Given the description of an element on the screen output the (x, y) to click on. 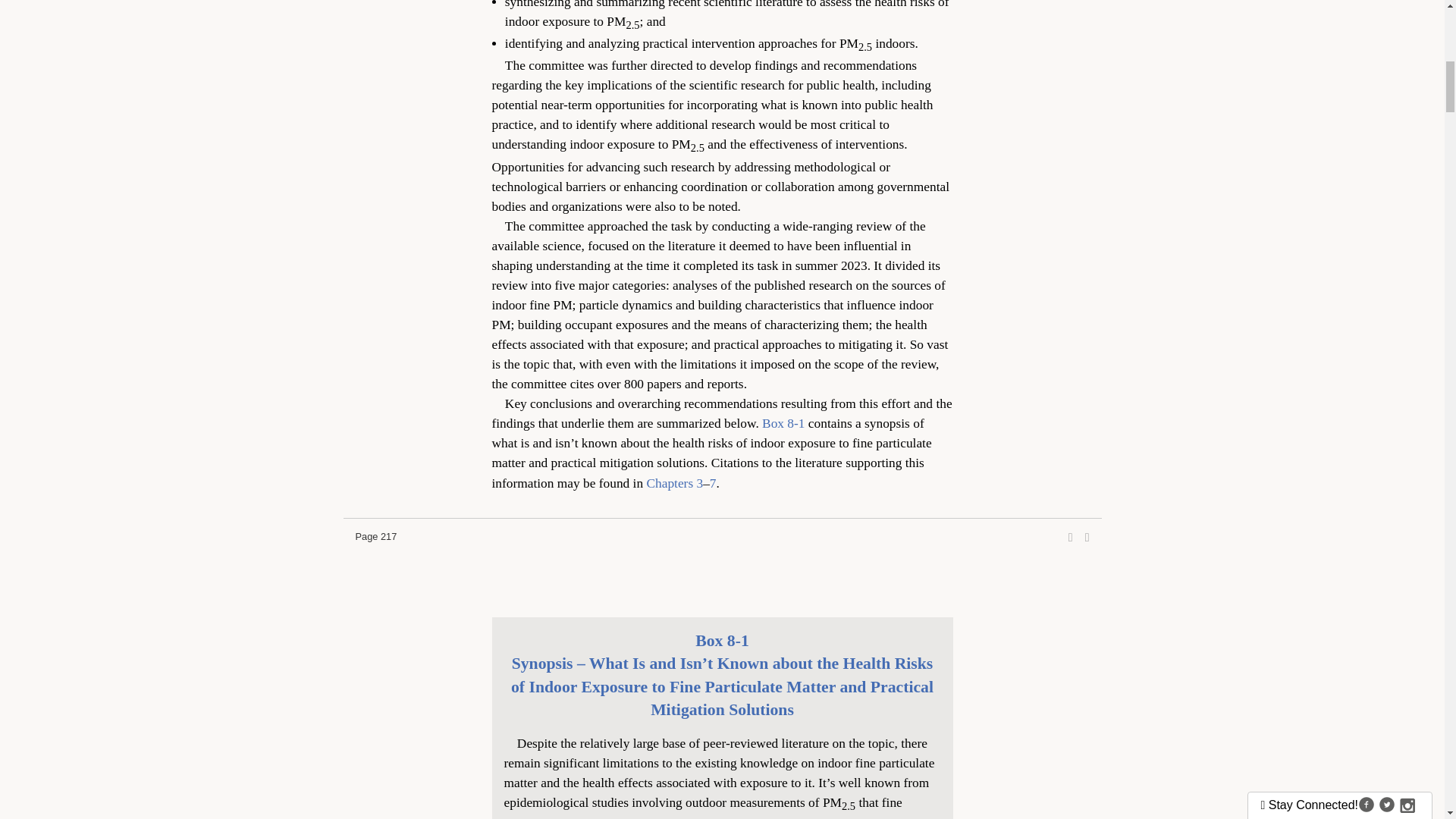
Chapters 3 (674, 482)
Box 8-1 (783, 423)
